Given the description of an element on the screen output the (x, y) to click on. 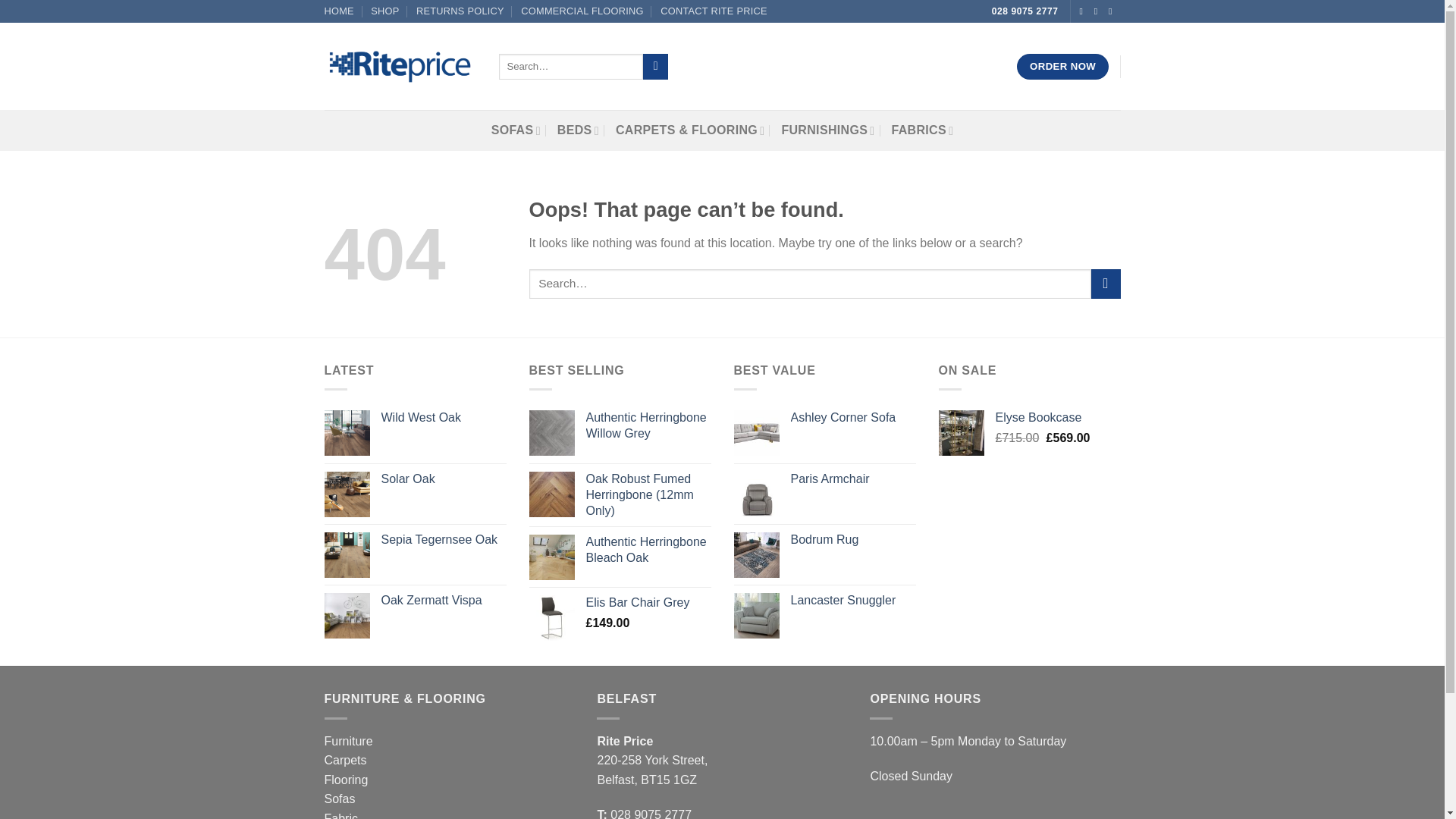
CONTACT RITE PRICE (714, 11)
HOME (338, 11)
Furniture Store Belfast (338, 11)
SOFAS (516, 129)
FURNISHINGS (827, 129)
ORDER NOW (1062, 66)
Commercial Flooring (582, 11)
Furniture and Flooring Store Belfast (384, 11)
COMMERCIAL FLOORING (582, 11)
SHOP (384, 11)
RETURNS POLICY (459, 11)
Search (655, 66)
BEDS (577, 129)
